Given the description of an element on the screen output the (x, y) to click on. 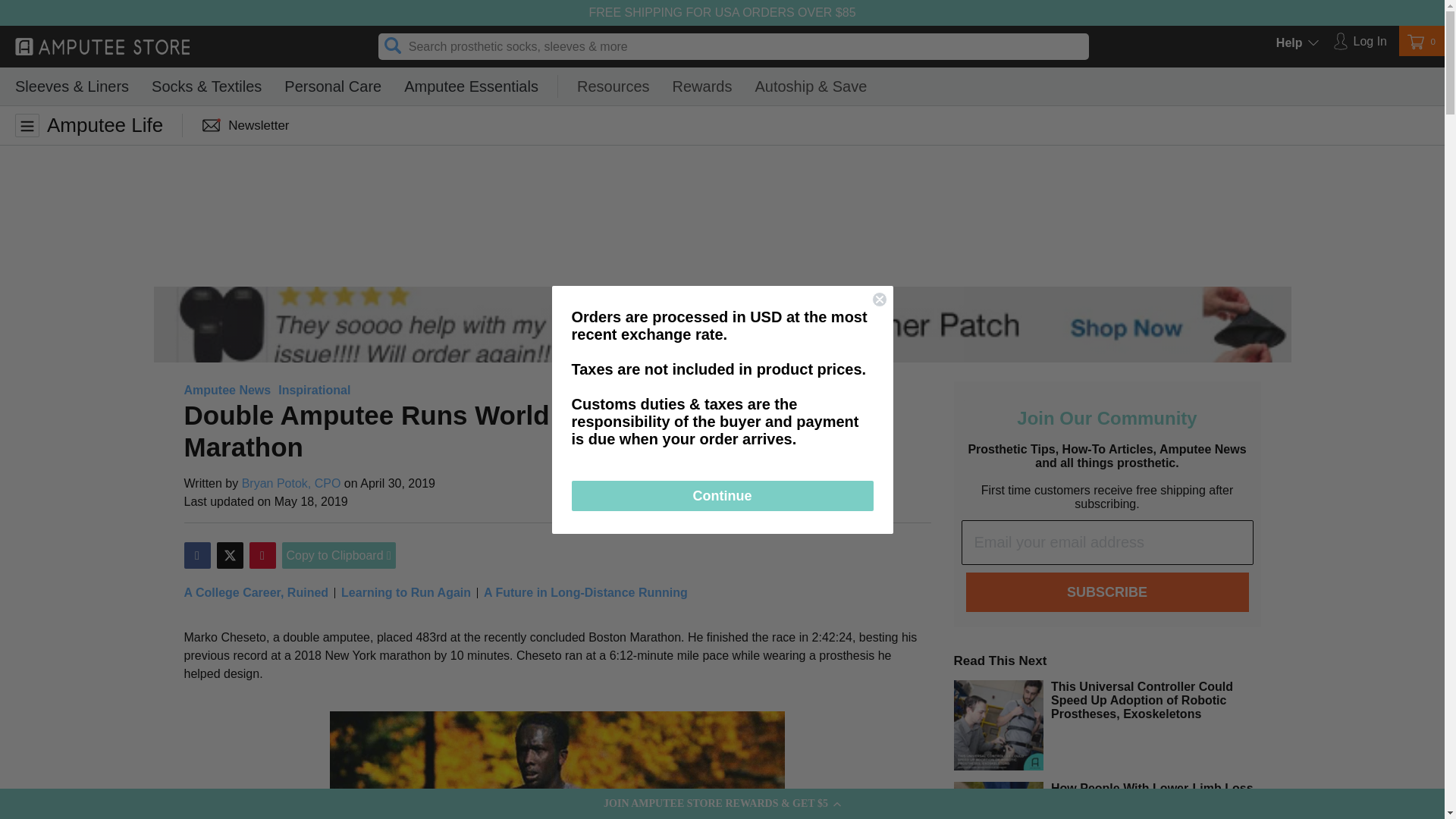
Personal Care (332, 86)
Help (1313, 43)
Amputee Essentials (471, 86)
